Given the description of an element on the screen output the (x, y) to click on. 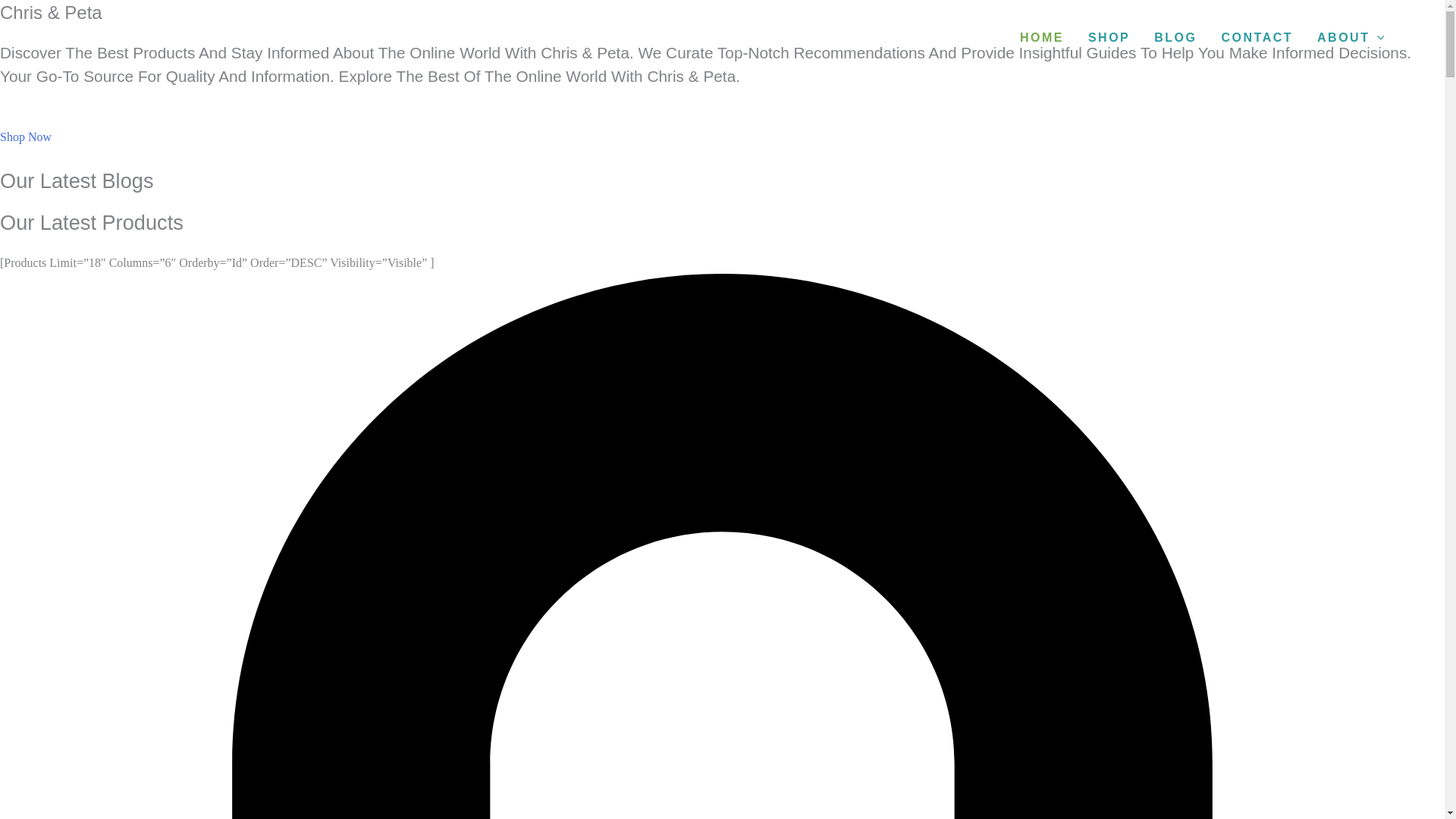
Shop Now (25, 148)
CONTACT (1256, 38)
HOME (1041, 38)
ABOUT (1350, 38)
